Given the description of an element on the screen output the (x, y) to click on. 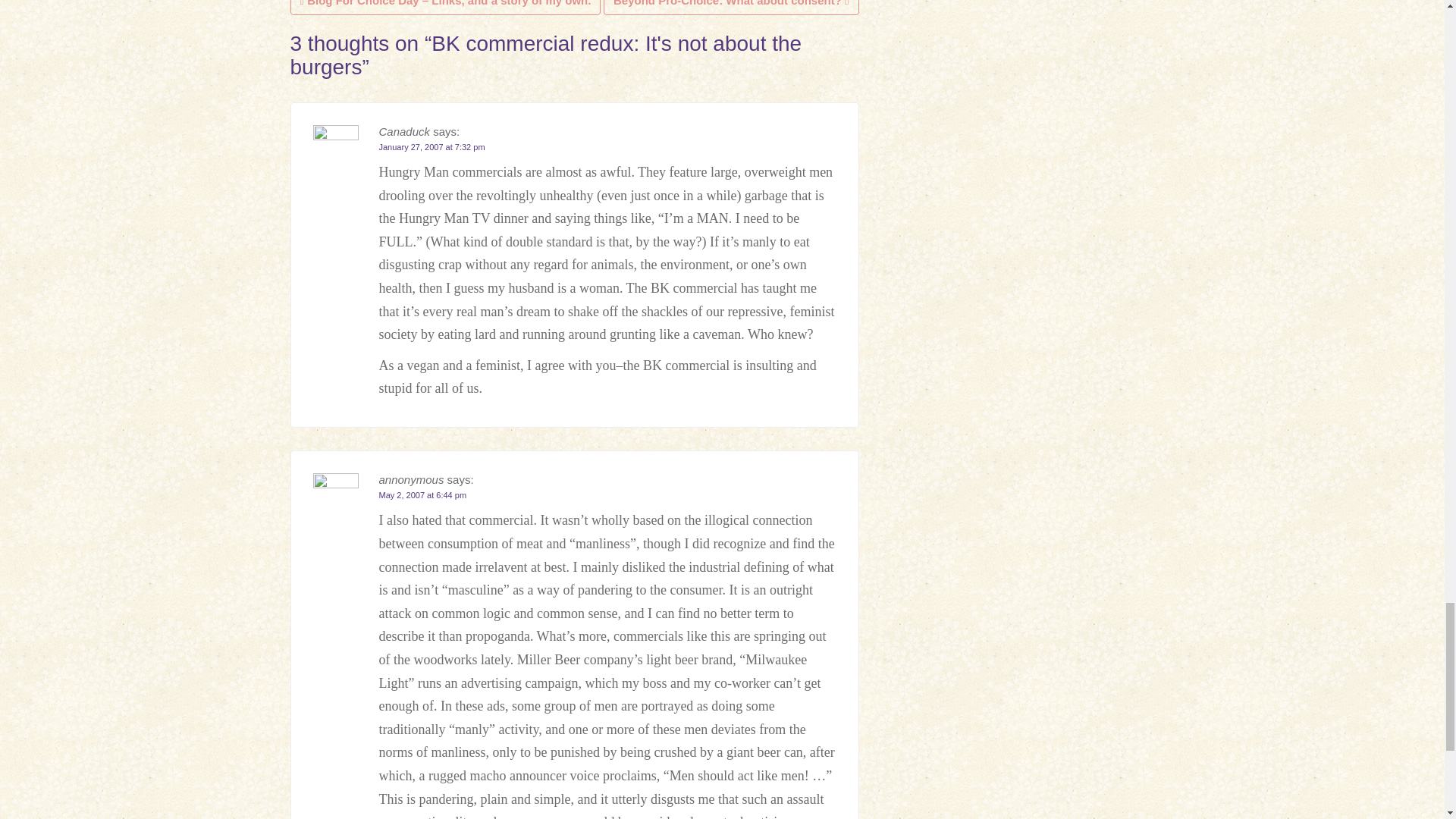
January 27, 2007 at 7:32 pm (431, 146)
May 2, 2007 at 6:44 pm (422, 494)
Beyond Pro-Choice: What about consent? (731, 7)
